Given the description of an element on the screen output the (x, y) to click on. 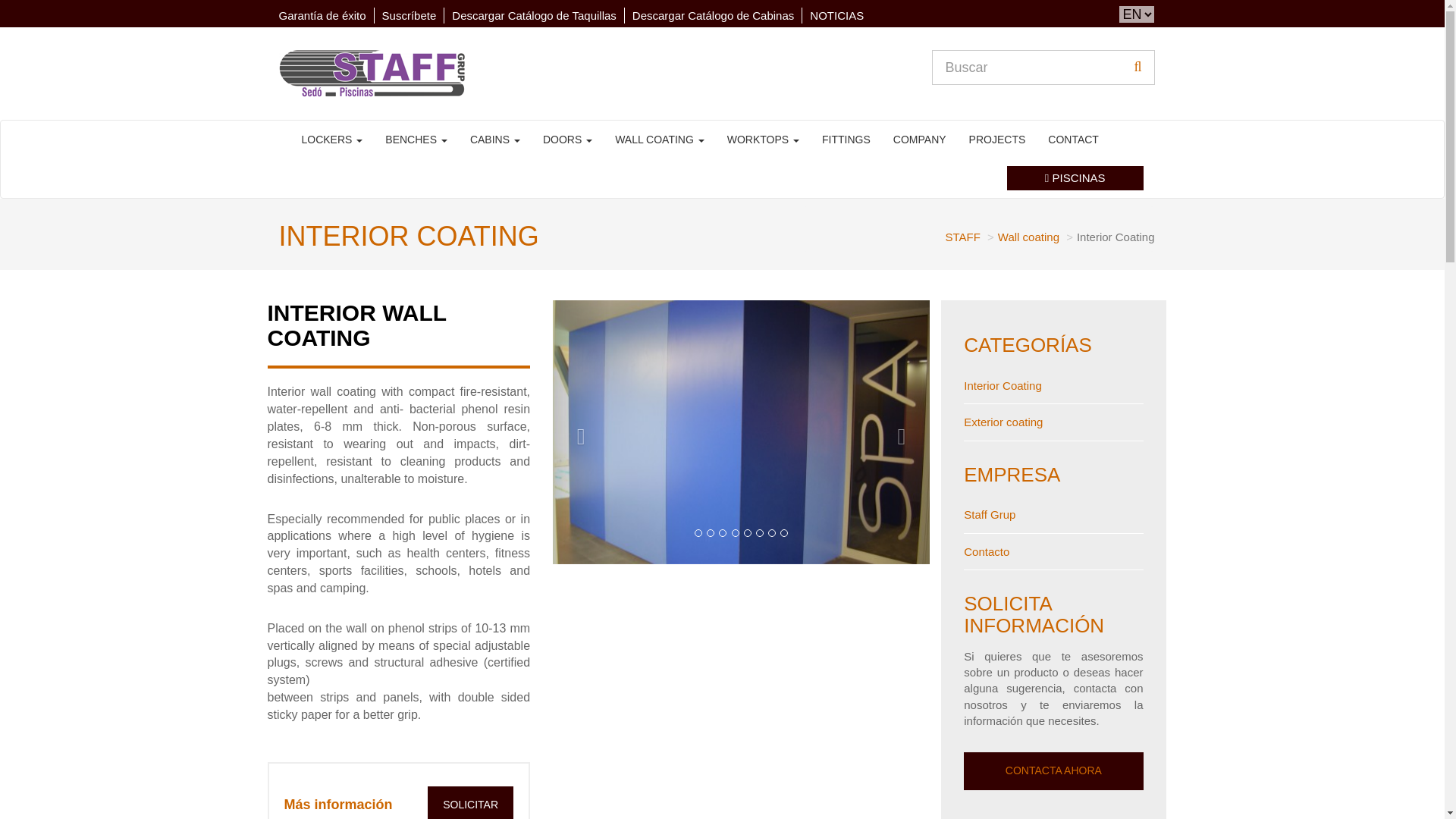
SOLICITAR (470, 802)
PROJECTS (997, 139)
Interior Coating (1002, 385)
WORKTOPS (763, 139)
FITTINGS (846, 139)
COMPANY (920, 139)
NOTICIAS (836, 15)
CABINS (494, 139)
Interior Coating (741, 432)
DOORS (567, 139)
